Given the description of an element on the screen output the (x, y) to click on. 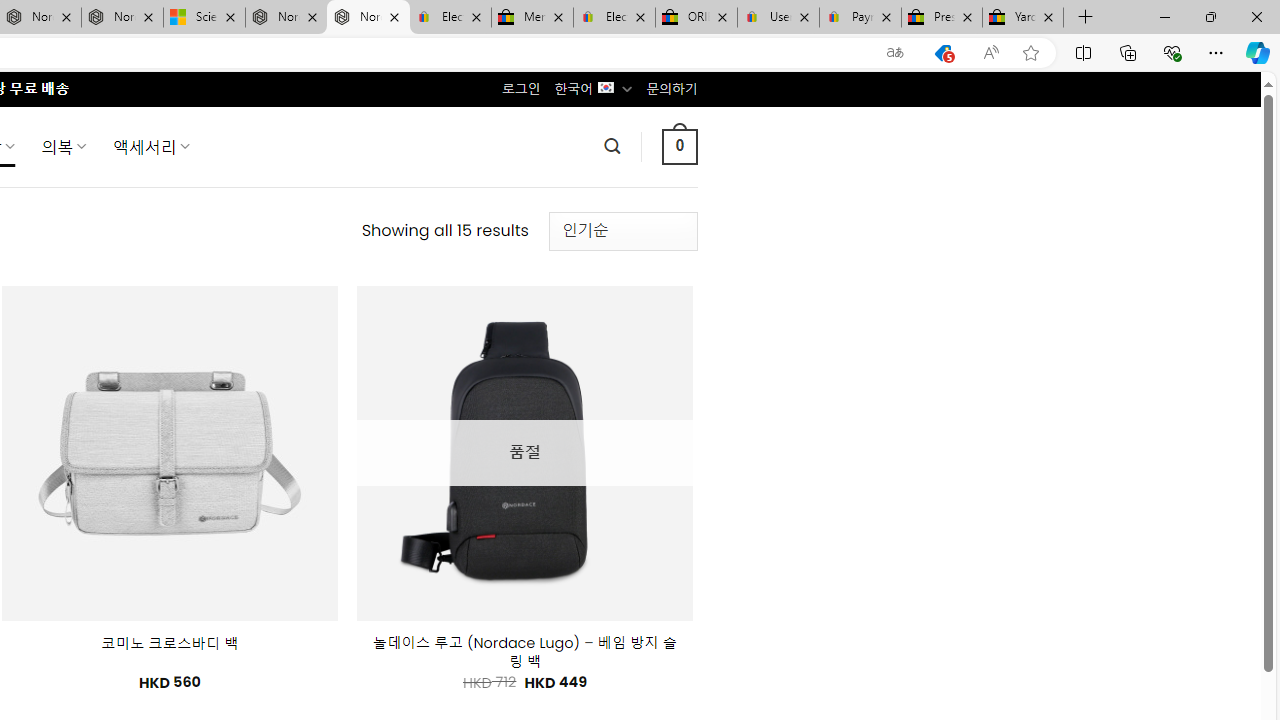
  0   (679, 146)
Payments Terms of Use | eBay.com (860, 17)
Yard, Garden & Outdoor Living (1023, 17)
 0  (679, 146)
Nordace - Summer Adventures 2024 (285, 17)
User Privacy Notice | eBay (778, 17)
